Given the description of an element on the screen output the (x, y) to click on. 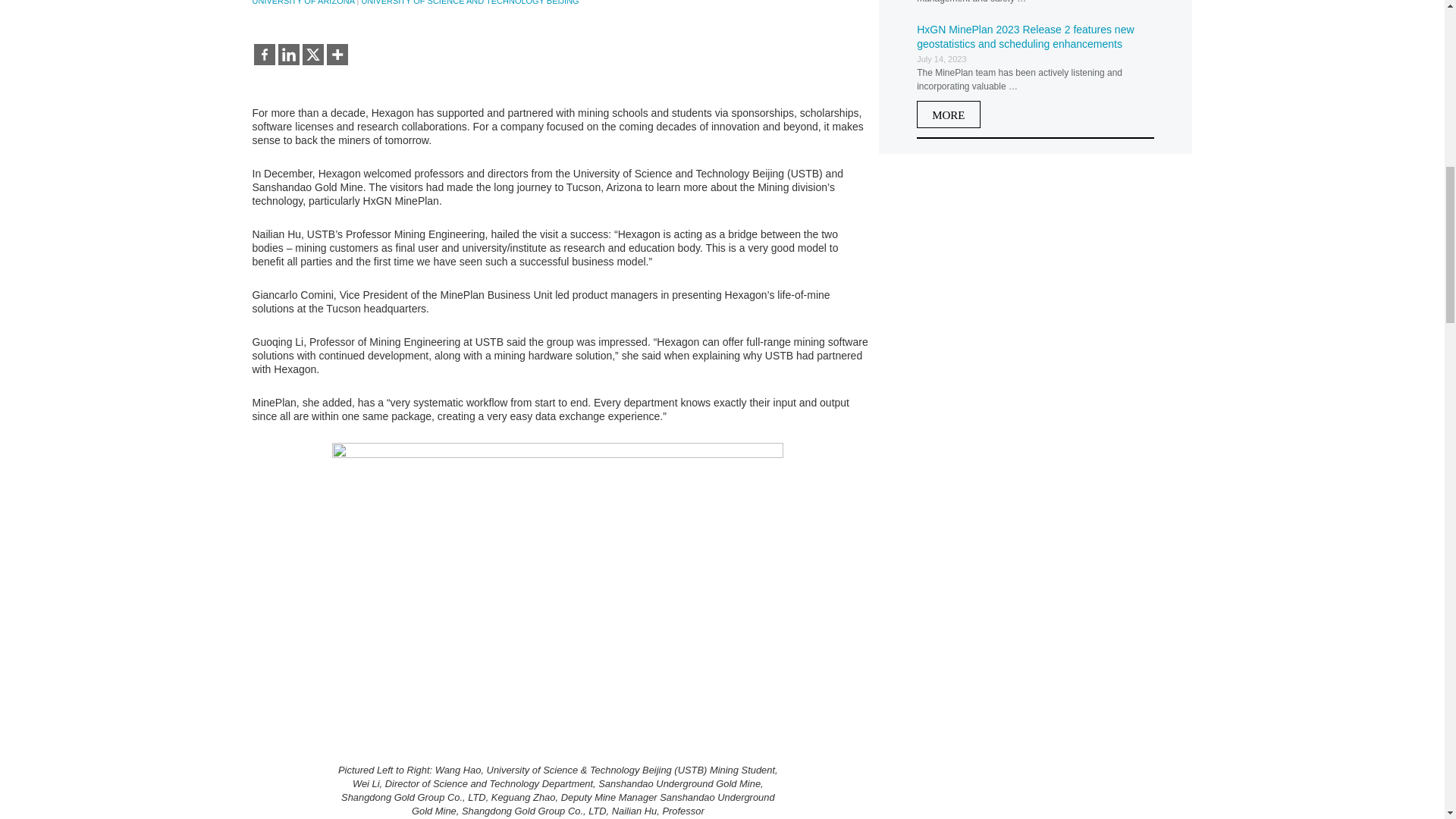
More (336, 54)
Facebook (264, 54)
X (312, 54)
Linkedin (288, 54)
